Given the description of an element on the screen output the (x, y) to click on. 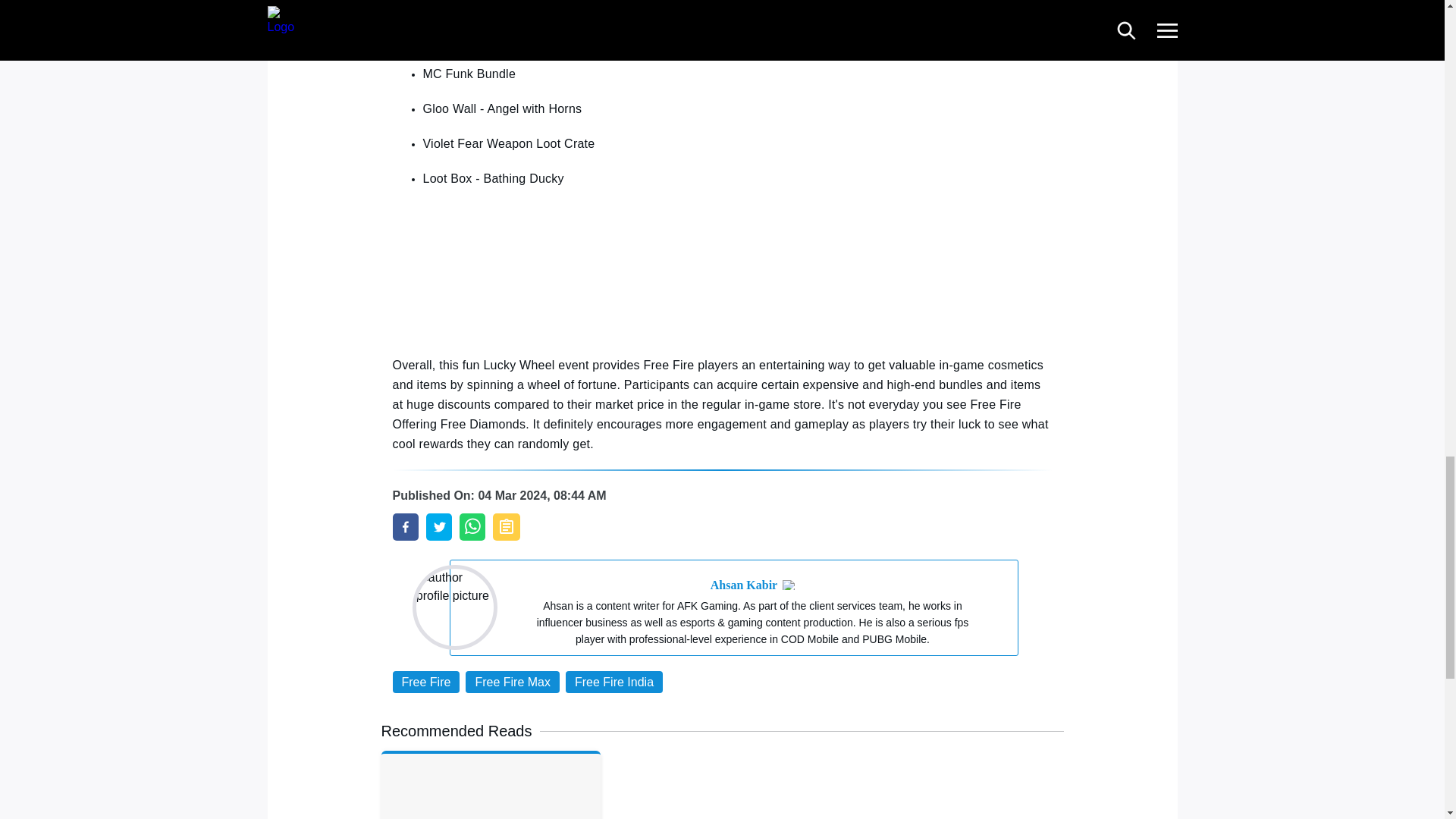
Free Fire India (614, 681)
Free Fire (426, 681)
Ahsan Kabir (743, 585)
Free Fire Max (512, 681)
